Given the description of an element on the screen output the (x, y) to click on. 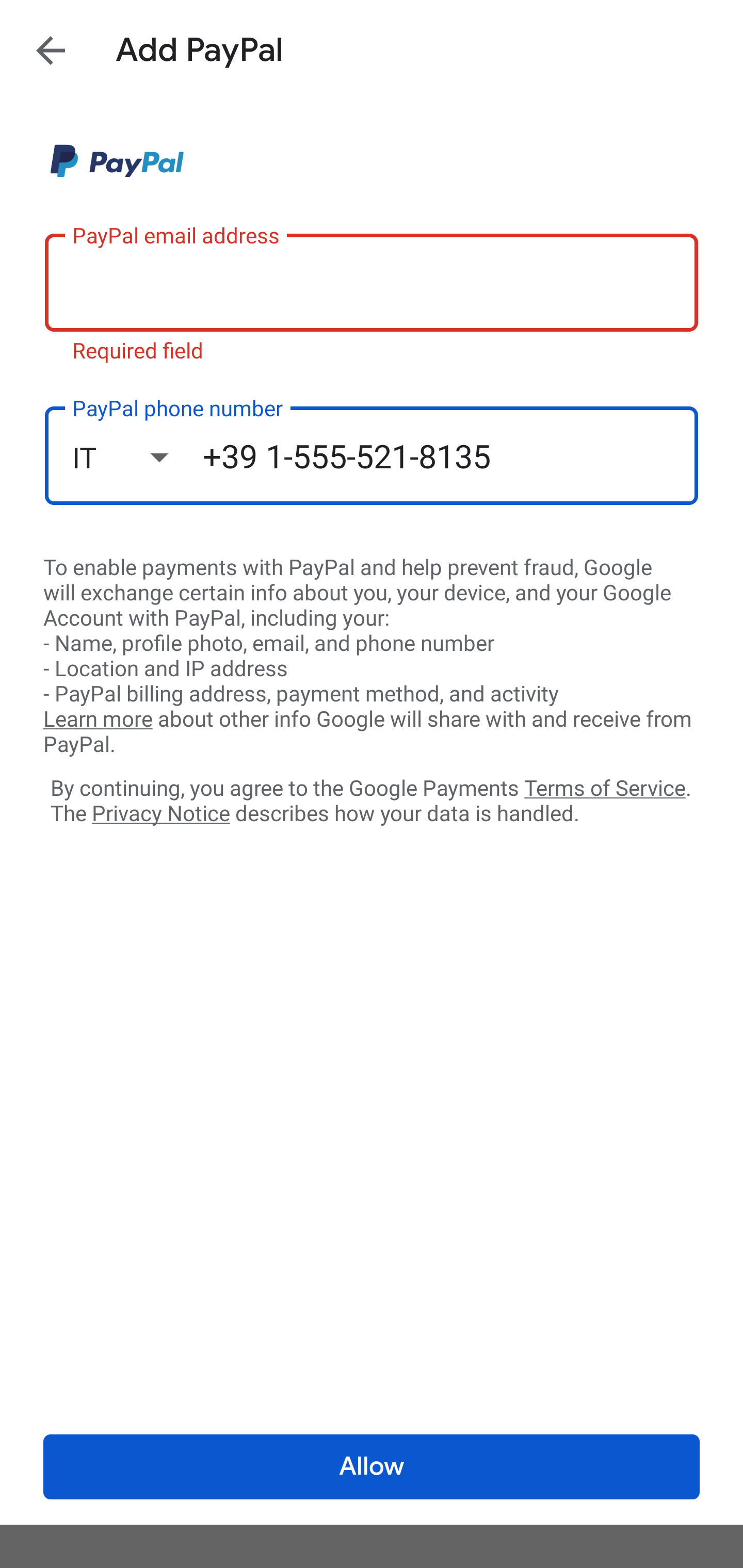
Navigate up (50, 50)
IT (137, 456)
Learn more (97, 719)
Terms of Service (604, 787)
Privacy Notice (160, 814)
Allow (371, 1466)
